Given the description of an element on the screen output the (x, y) to click on. 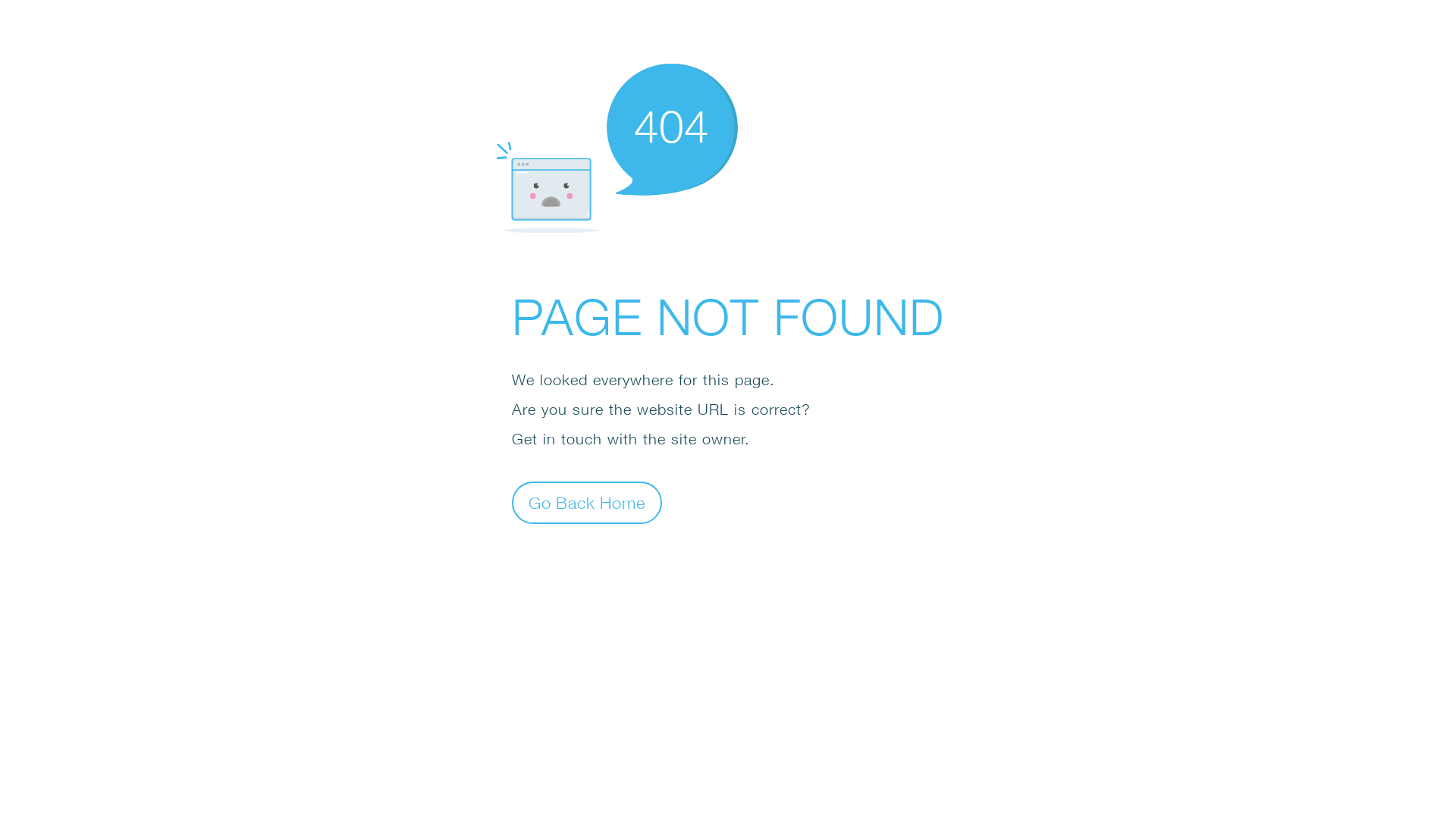
Go Back Home Element type: text (586, 502)
